Given the description of an element on the screen output the (x, y) to click on. 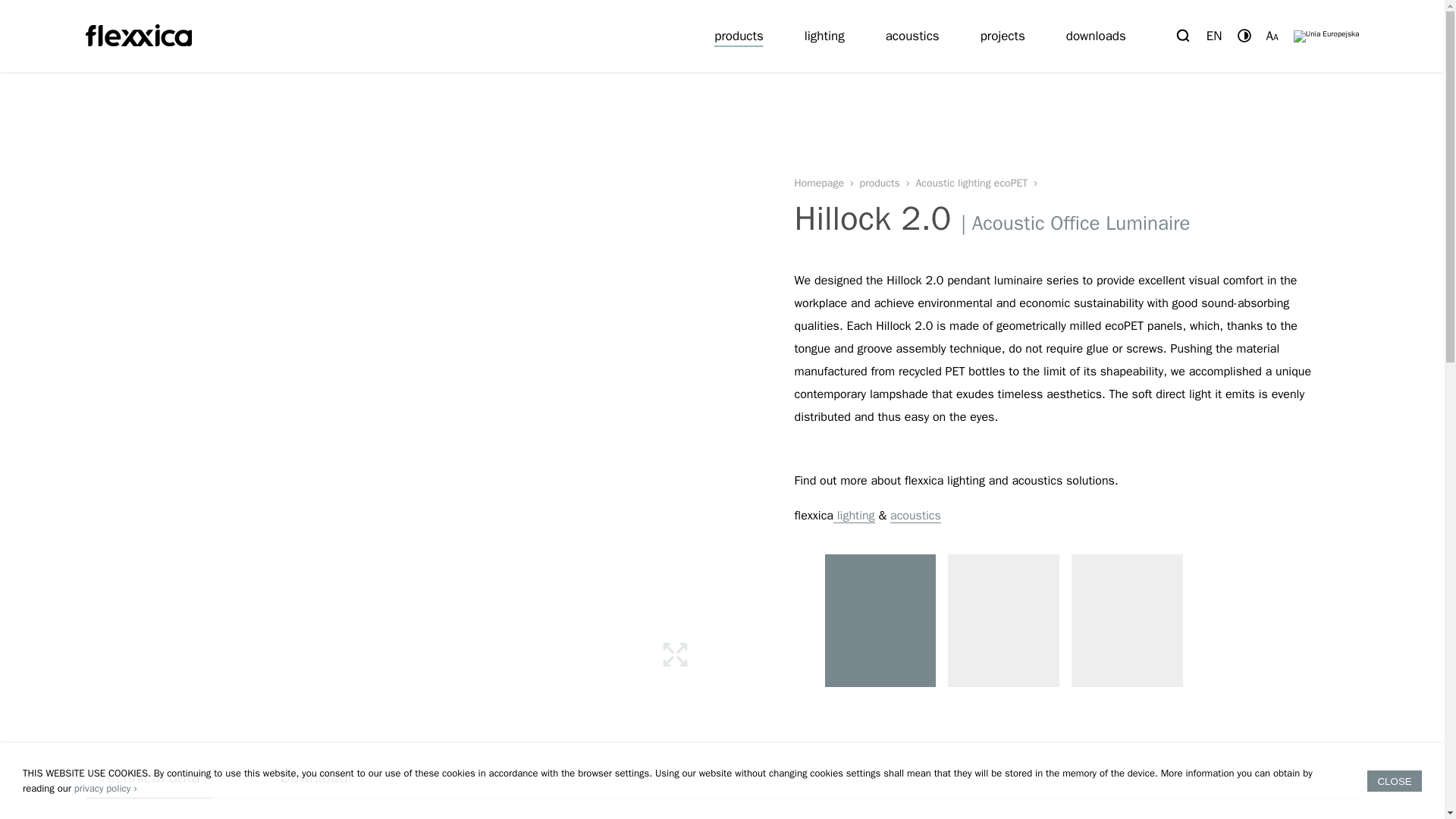
AA (1272, 35)
Technical data (148, 777)
acoustics (914, 515)
products (739, 36)
projects (1002, 36)
 lighting (853, 515)
lighting (824, 36)
Switch contrast (1244, 35)
Download (313, 777)
products (887, 182)
downloads (1096, 36)
Homepage (827, 182)
Change locale (1214, 35)
acoustics (911, 36)
CLOSE (1394, 780)
